Given the description of an element on the screen output the (x, y) to click on. 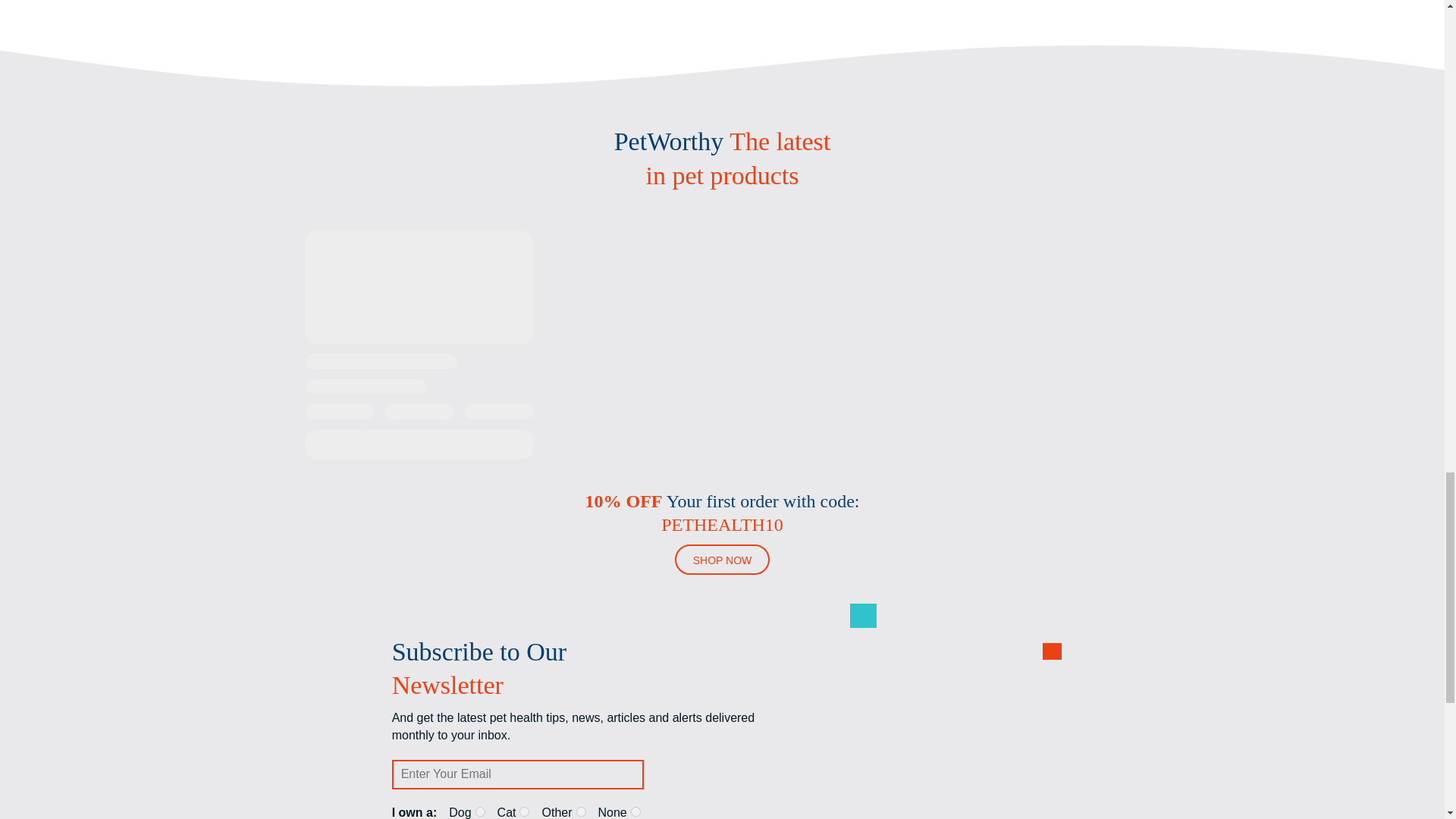
Other (581, 811)
SHOP NOW (722, 559)
Cat (524, 811)
Dog (480, 811)
None (635, 811)
